Given the description of an element on the screen output the (x, y) to click on. 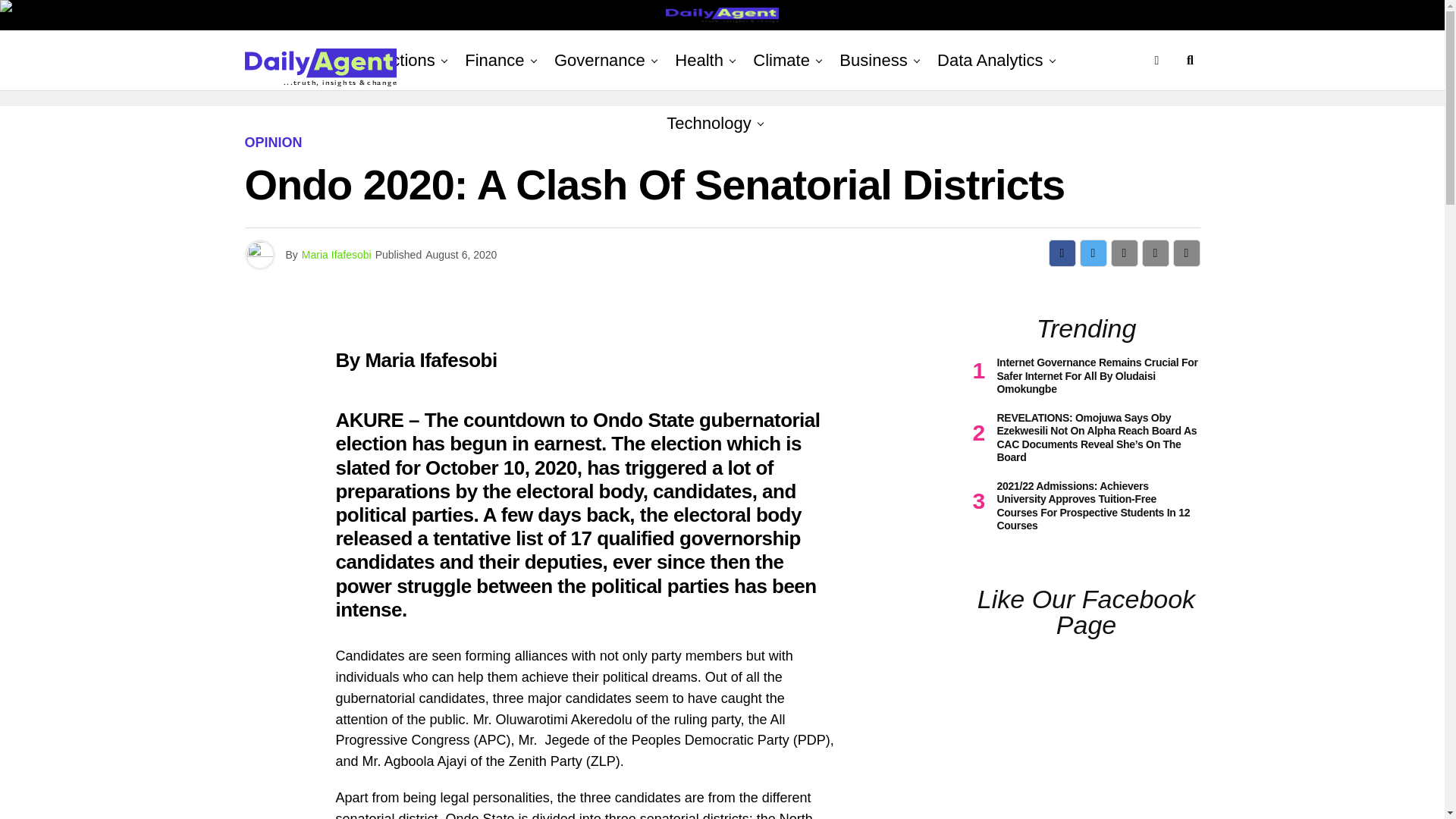
Posts by Maria Ifafesobi (336, 254)
Finance (494, 60)
Elections (404, 60)
Governance (599, 60)
Share on Facebook (1061, 252)
Tweet This Post (1093, 252)
Advertise With DailyAgent (377, 31)
Health (698, 60)
